Given the description of an element on the screen output the (x, y) to click on. 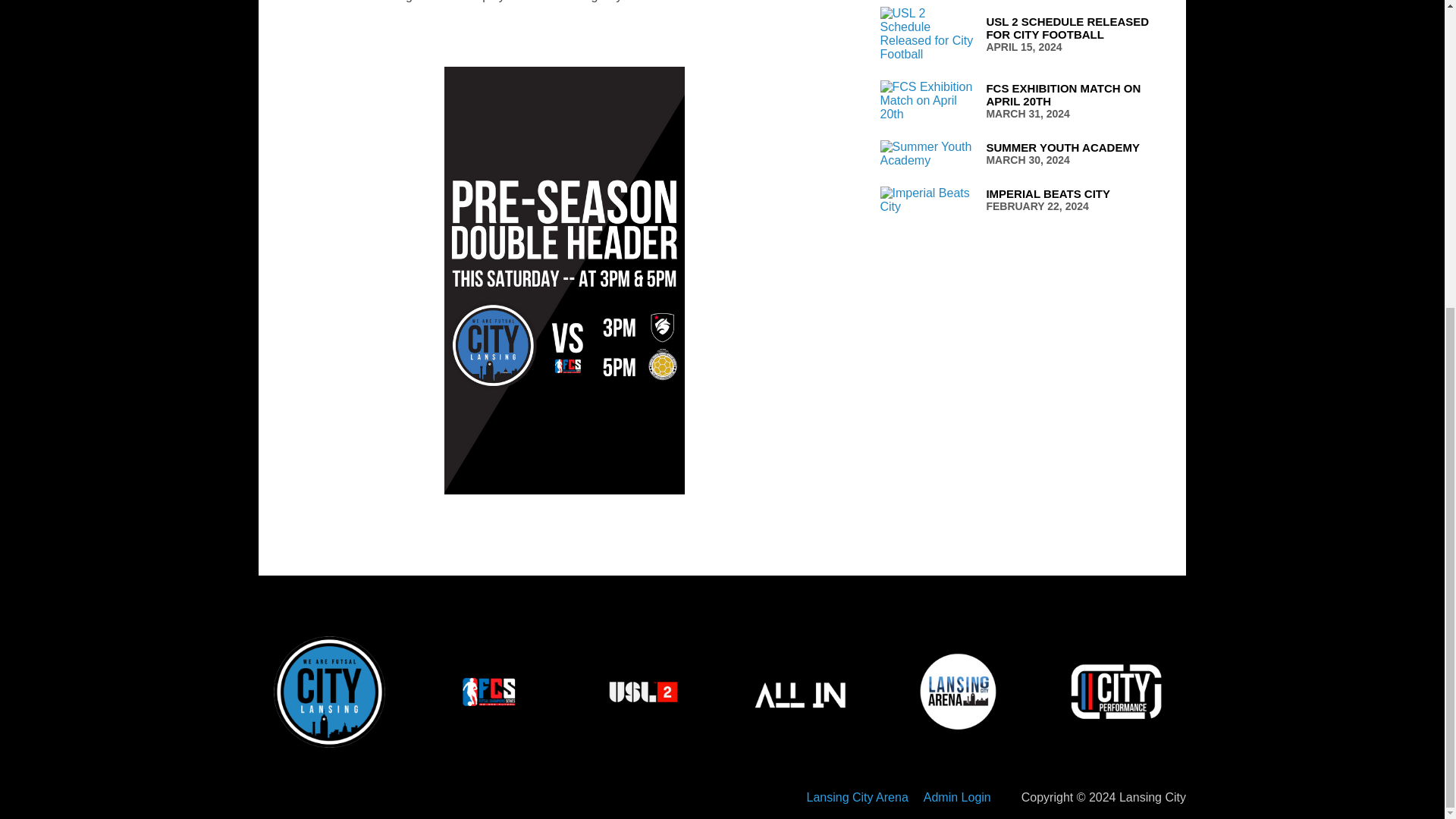
Lansing City Arena (1023, 33)
Powered by SoccerShift (1023, 199)
Admin Login (1023, 100)
